Given the description of an element on the screen output the (x, y) to click on. 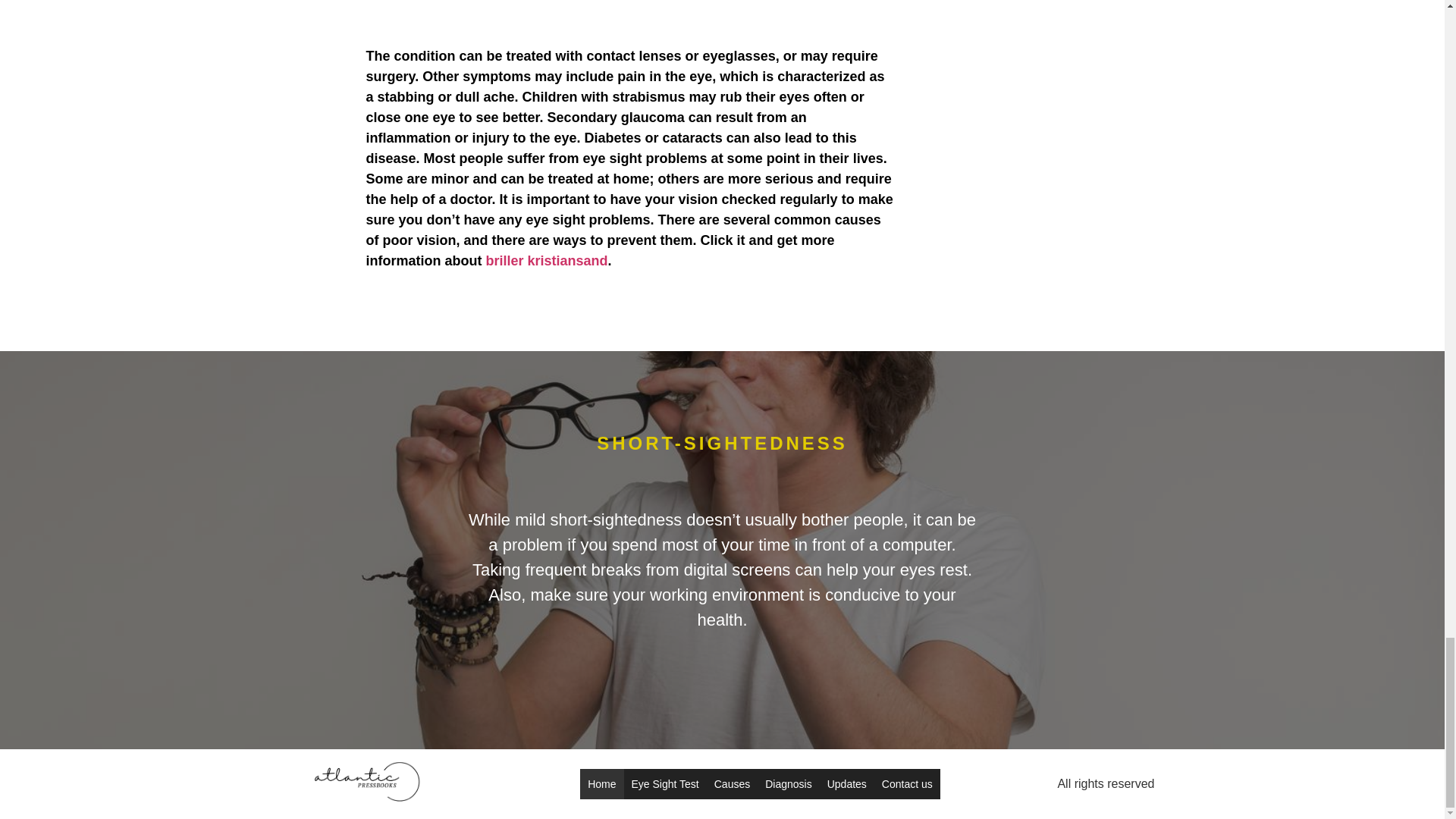
Eye Sight Test (664, 784)
Contact us (907, 784)
briller kristiansand (545, 260)
Diagnosis (787, 784)
Updates (847, 784)
Causes (731, 784)
Home (601, 784)
